Given the description of an element on the screen output the (x, y) to click on. 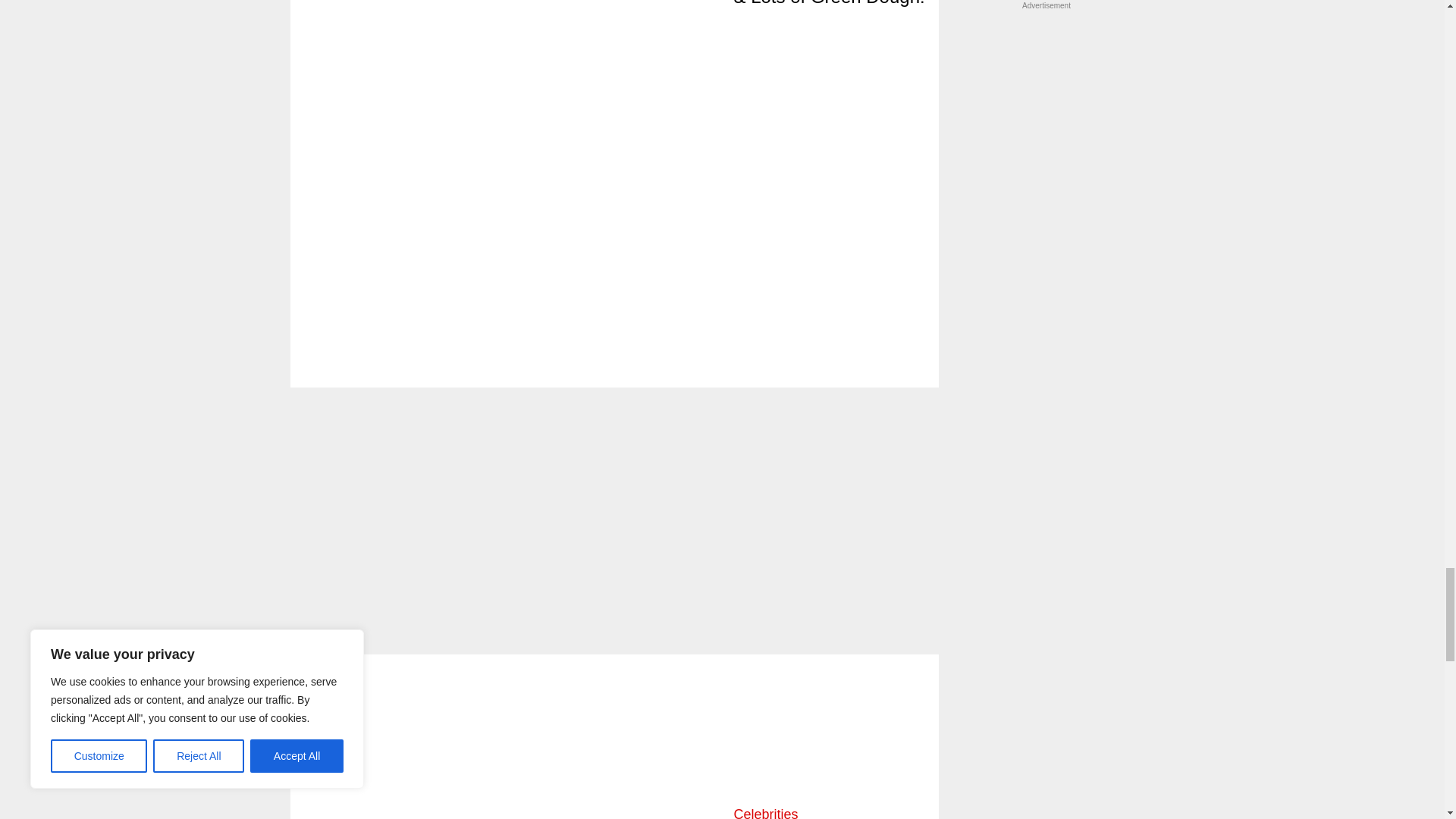
Category Name (765, 812)
